Given the description of an element on the screen output the (x, y) to click on. 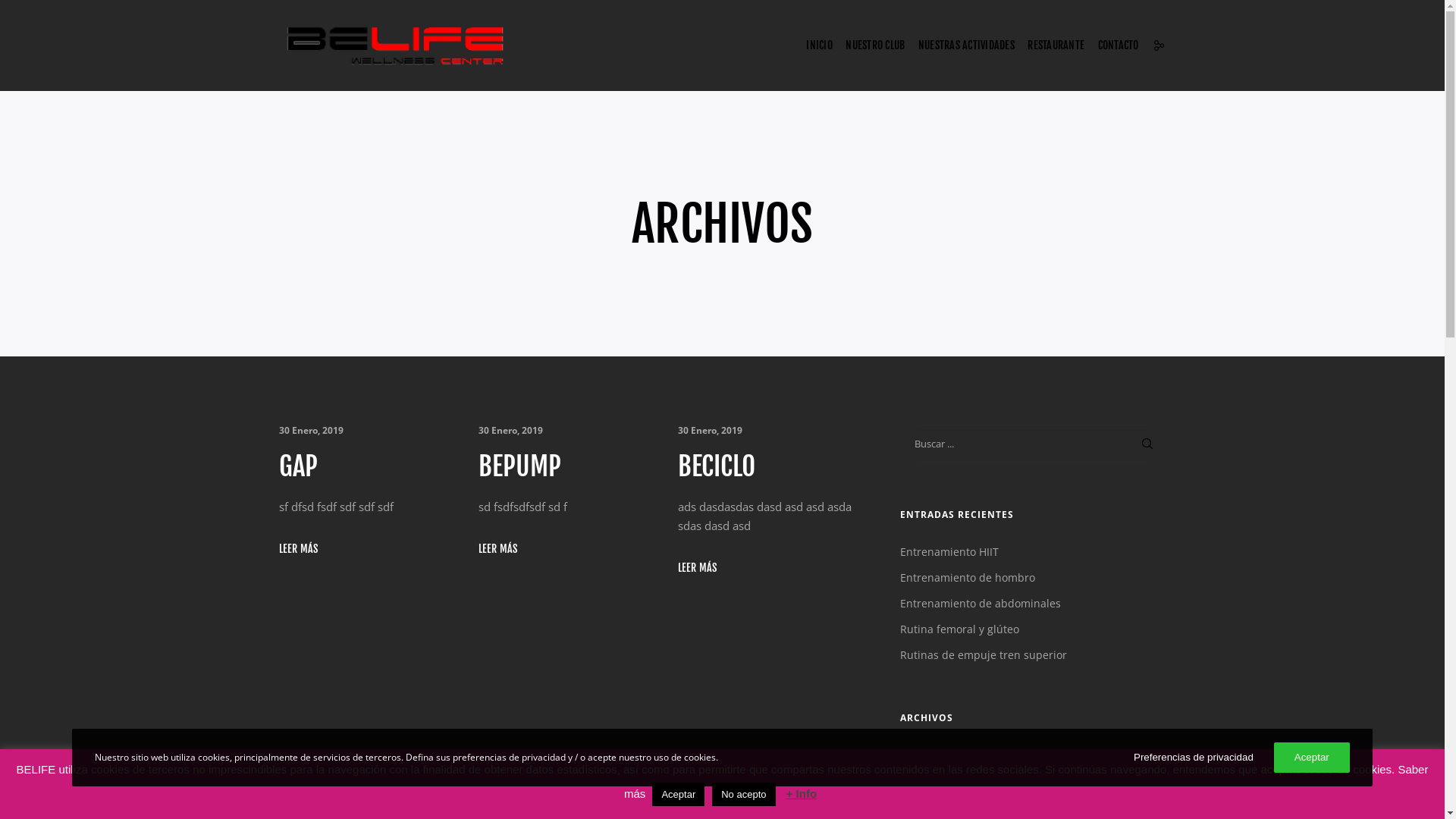
RESTAURANTE Element type: text (1056, 45)
CONTACTO Element type: text (1116, 45)
NUESTRAS ACTIVIDADES Element type: text (965, 45)
BEPUMP Element type: text (565, 466)
GAP Element type: text (367, 466)
INICIO Element type: text (819, 45)
NUESTRO CLUB Element type: text (875, 45)
Rutinas de empuje tren superior Element type: text (982, 654)
Aceptar Element type: text (678, 794)
No acepto Element type: text (743, 794)
mayo 2020 Element type: text (926, 754)
Preferencias de privacidad Element type: text (1193, 757)
Entrenamiento HIIT Element type: text (948, 551)
Aceptar Element type: text (1311, 757)
BECICLO Element type: text (765, 466)
Entrenamiento de abdominales Element type: text (979, 603)
+ Info Element type: text (801, 793)
Entrenamiento de hombro Element type: text (966, 577)
abril 2020 Element type: text (924, 780)
